Given the description of an element on the screen output the (x, y) to click on. 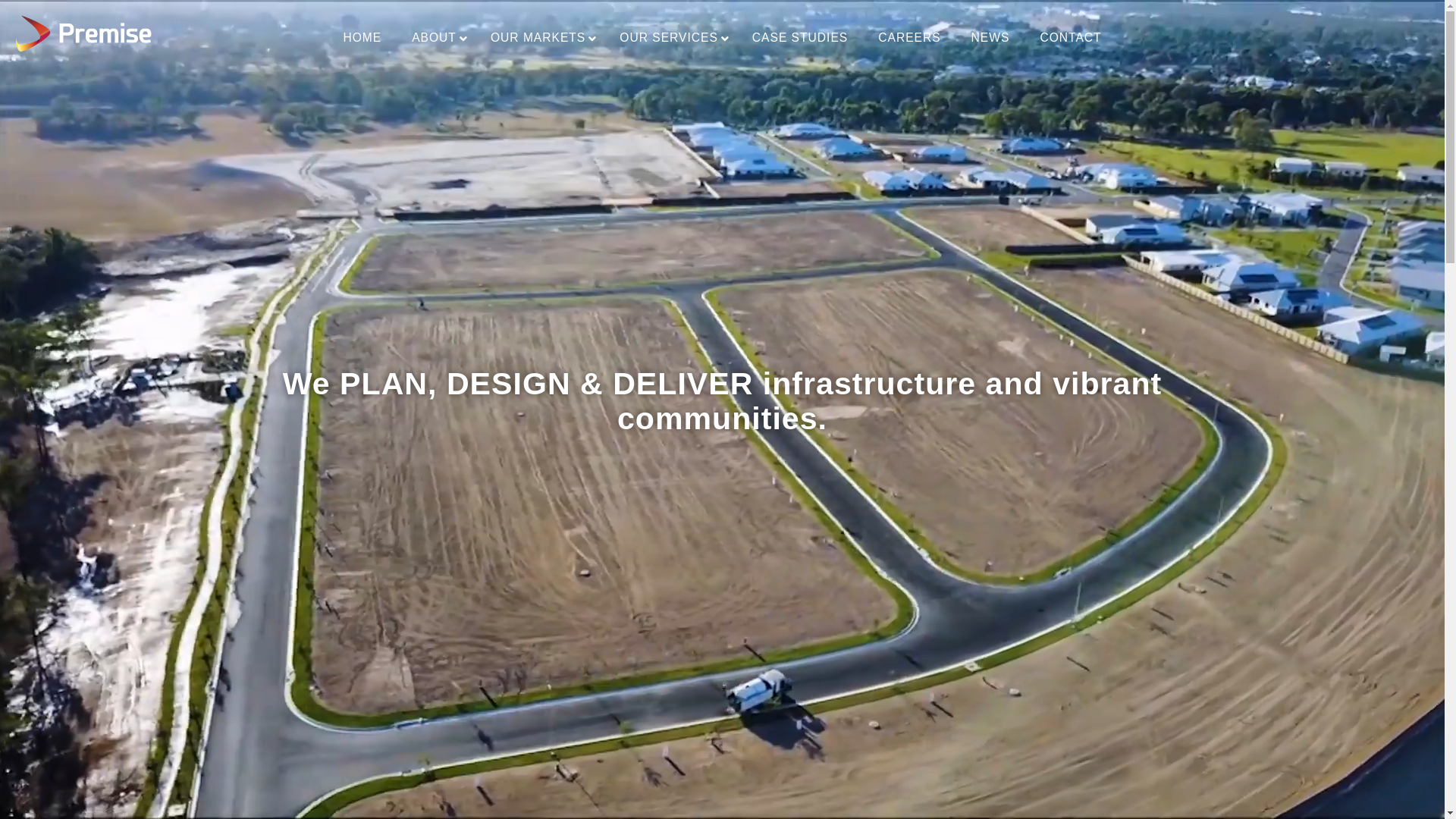
www.premise.com.au Element type: text (727, 480)
Click Here Element type: text (767, 602)
